Given the description of an element on the screen output the (x, y) to click on. 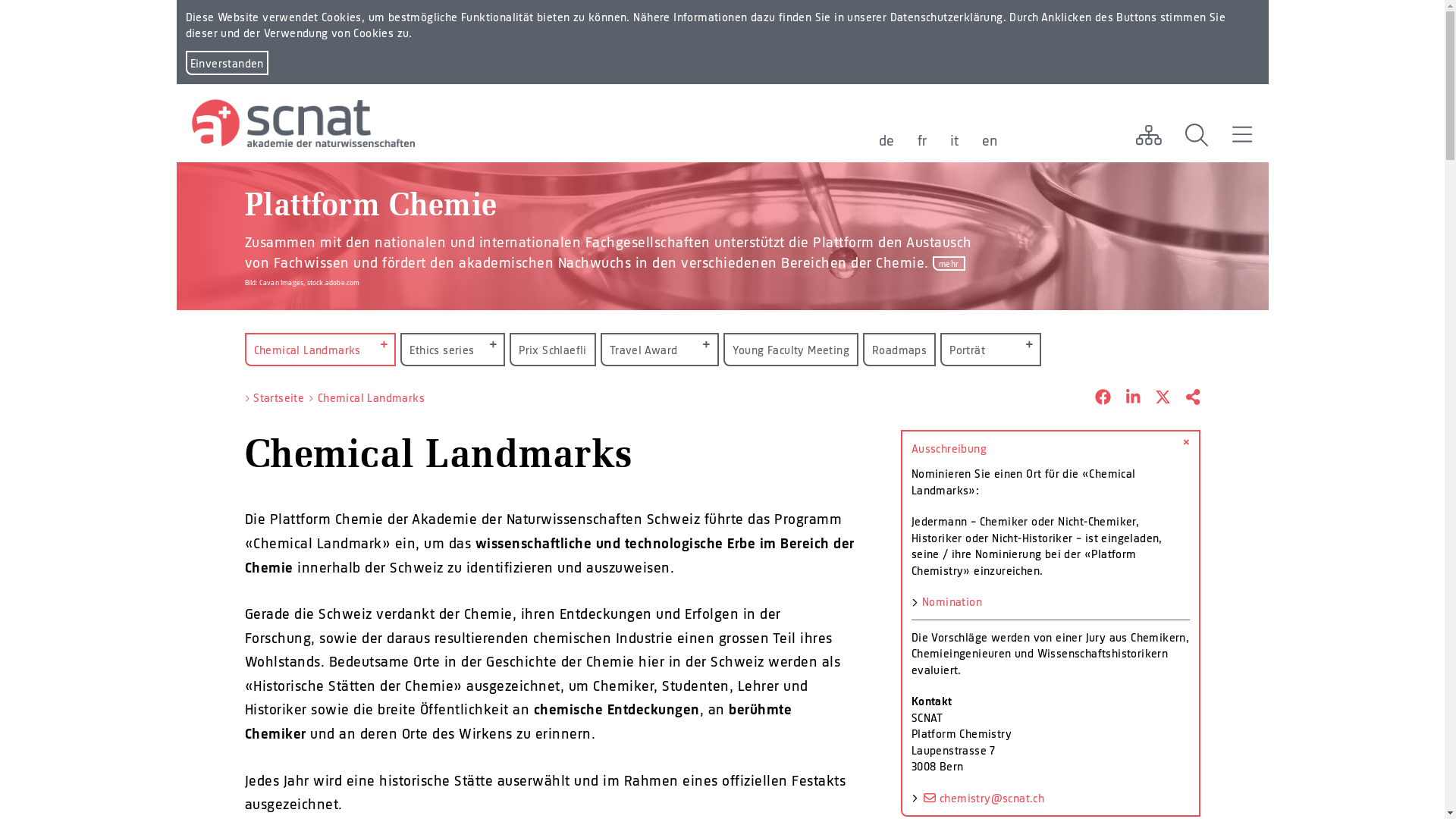
Chemical Landmarks Element type: text (319, 349)
Einverstanden Element type: text (226, 62)
fr Element type: text (922, 140)
Young Faculty Meeting Element type: text (790, 349)
Ausschreibung Element type: text (1050, 448)
Plattform Chemie Element type: text (370, 209)
Netzwerk Element type: hover (1147, 134)
en Element type: text (989, 140)
Nomination Element type: text (952, 600)
mehr Element type: text (948, 263)
Auf LinkedIn teilen Element type: hover (1124, 397)
Ethics series Element type: text (452, 349)
Als Kurz-Link teilen Element type: hover (1184, 397)
Prix Schlaefli Element type: text (552, 349)
Travel Award Element type: text (659, 349)
chemistry@scnat.ch Element type: text (983, 798)
it Element type: text (953, 140)
Auf X teilen Element type: hover (1154, 397)
Suchen Element type: hover (1196, 134)
Chemical Landmarks Element type: text (370, 397)
Startseite Element type: text (278, 397)
de Element type: text (886, 140)
Auf Facebook teilen Element type: hover (1094, 397)
Roadmaps Element type: text (899, 349)
